Given the description of an element on the screen output the (x, y) to click on. 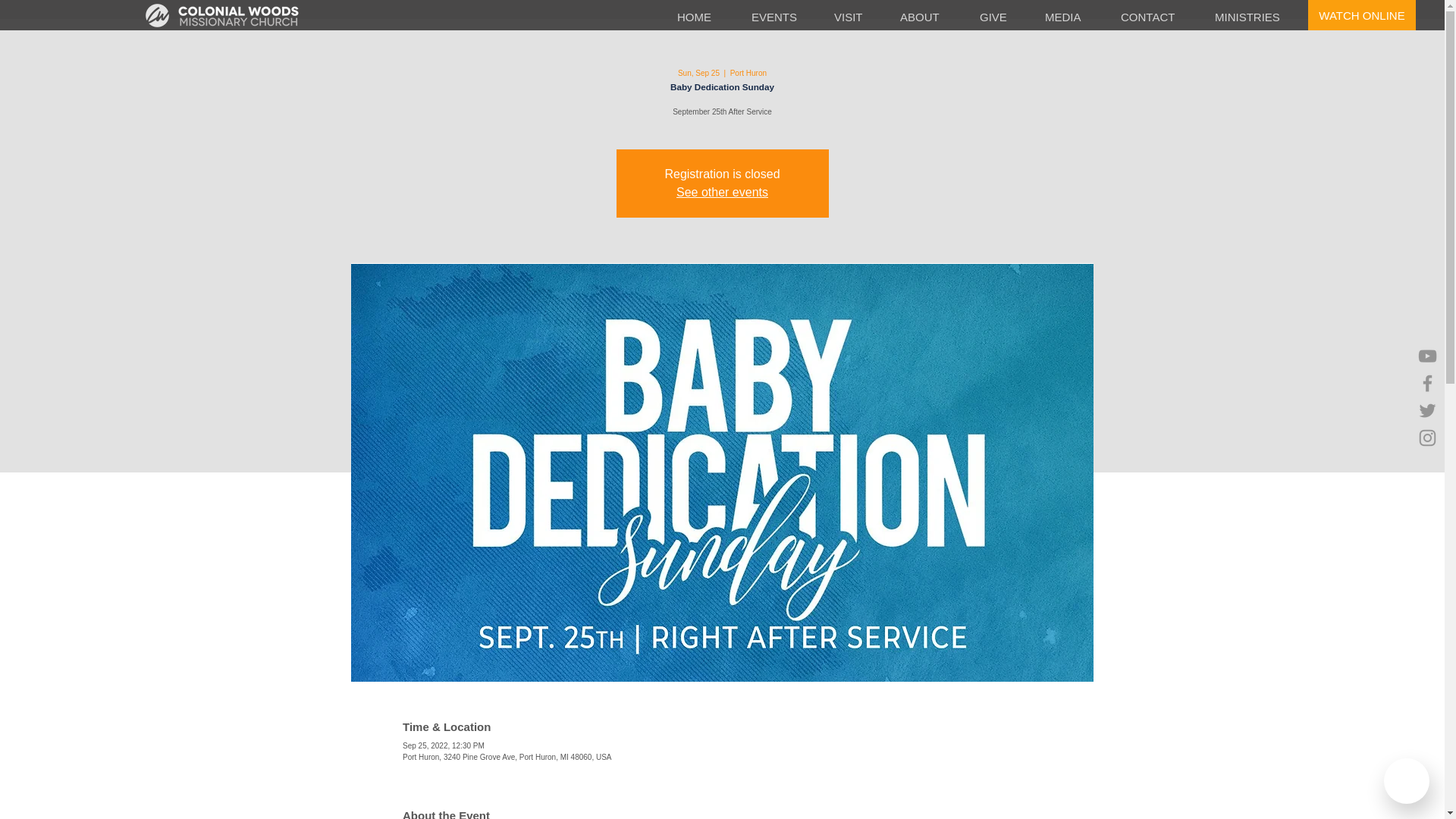
MINISTRIES (1254, 16)
VISIT (855, 16)
HOME (702, 16)
See other events (722, 192)
MEDIA (1071, 16)
EVENTS (780, 16)
CONTACT (1156, 16)
WATCH ONLINE (1361, 15)
GIVE (1000, 16)
ABOUT (928, 16)
